Given the description of an element on the screen output the (x, y) to click on. 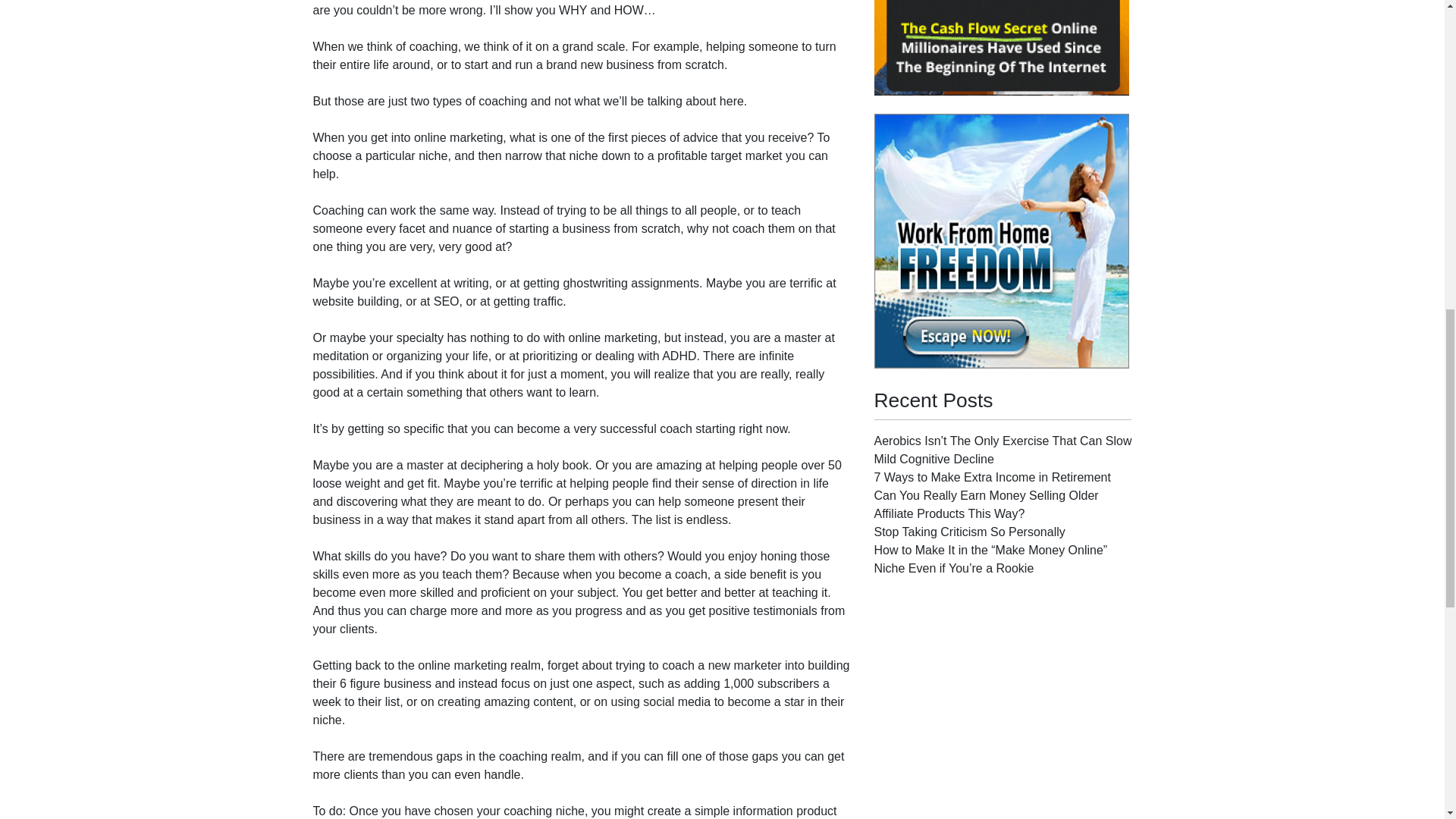
Stop Taking Criticism So Personally (968, 531)
7 Ways to Make Extra Income in Retirement (991, 477)
